Given the description of an element on the screen output the (x, y) to click on. 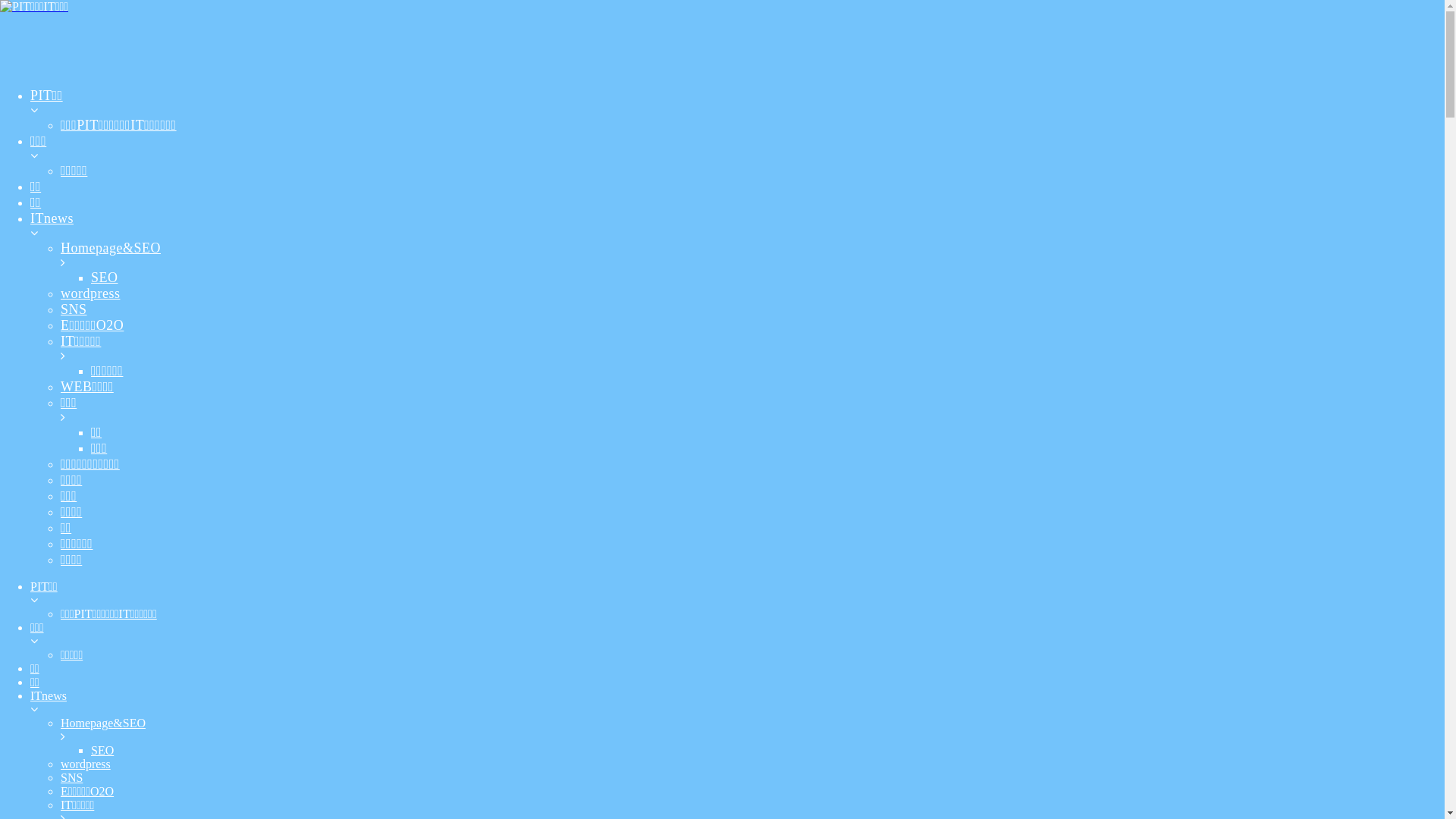
ITnews Element type: text (737, 702)
wordpress Element type: text (752, 764)
SEO Element type: text (767, 277)
Homepage&SEO Element type: text (752, 254)
SNS Element type: text (752, 309)
ITnews Element type: text (737, 225)
Homepage&SEO Element type: text (752, 729)
SNS Element type: text (752, 777)
SEO Element type: text (767, 750)
wordpress Element type: text (752, 293)
